Given the description of an element on the screen output the (x, y) to click on. 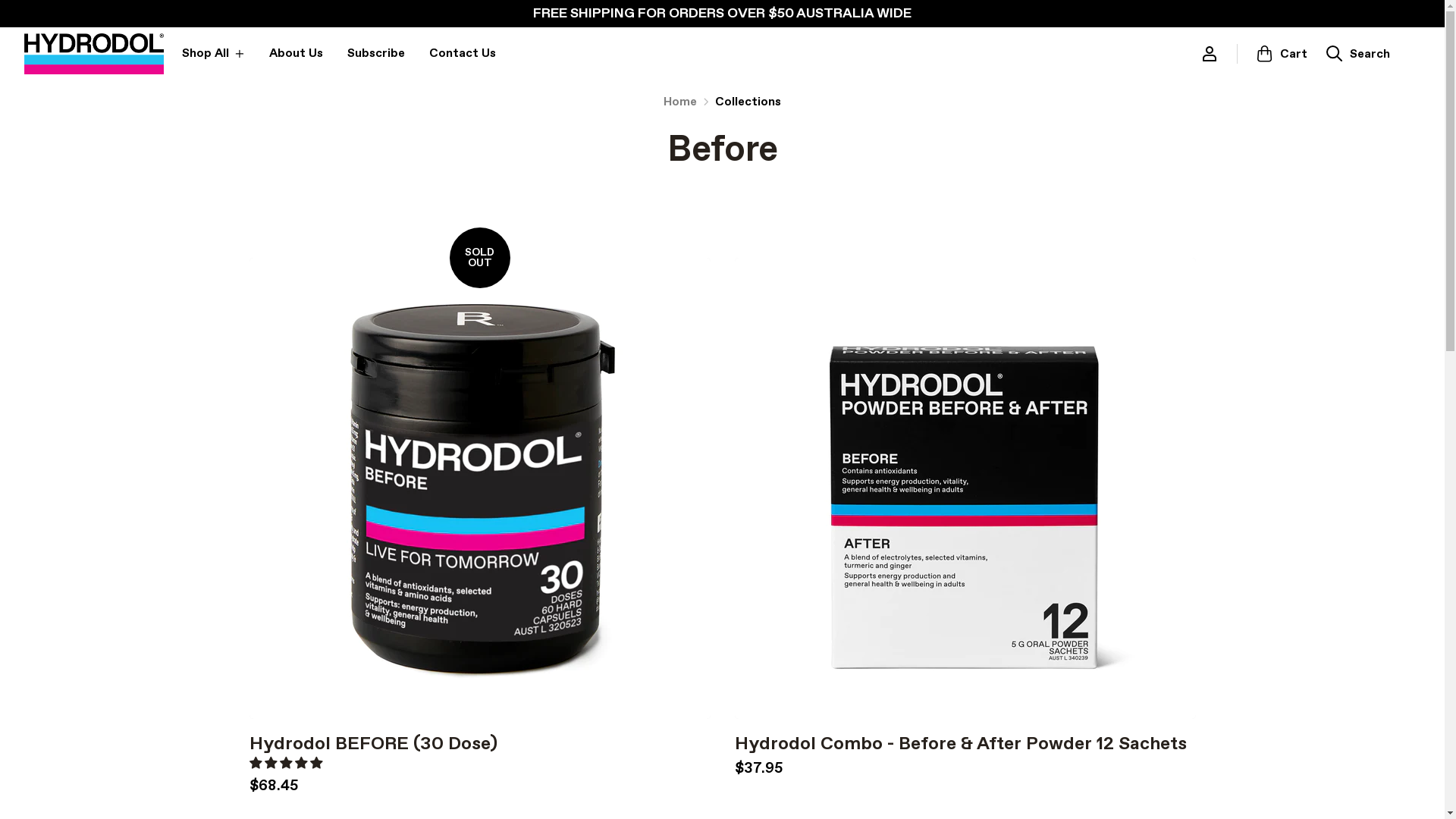
Subscribe Element type: text (375, 53)
Search Element type: text (1357, 53)
Shop All Element type: text (213, 53)
Hydrodol BEFORE (30 Dose) Element type: text (372, 743)
Hydrodol Combo - Before & After Powder 12 Sachets Element type: text (960, 743)
About Us Element type: text (296, 53)
Collections Element type: text (748, 101)
FREE SHIPPING FOR ORDERS OVER $50 AUSTRALIA WIDE Element type: text (722, 13)
Cart Element type: text (1281, 53)
Contact Us Element type: text (462, 53)
